Given the description of an element on the screen output the (x, y) to click on. 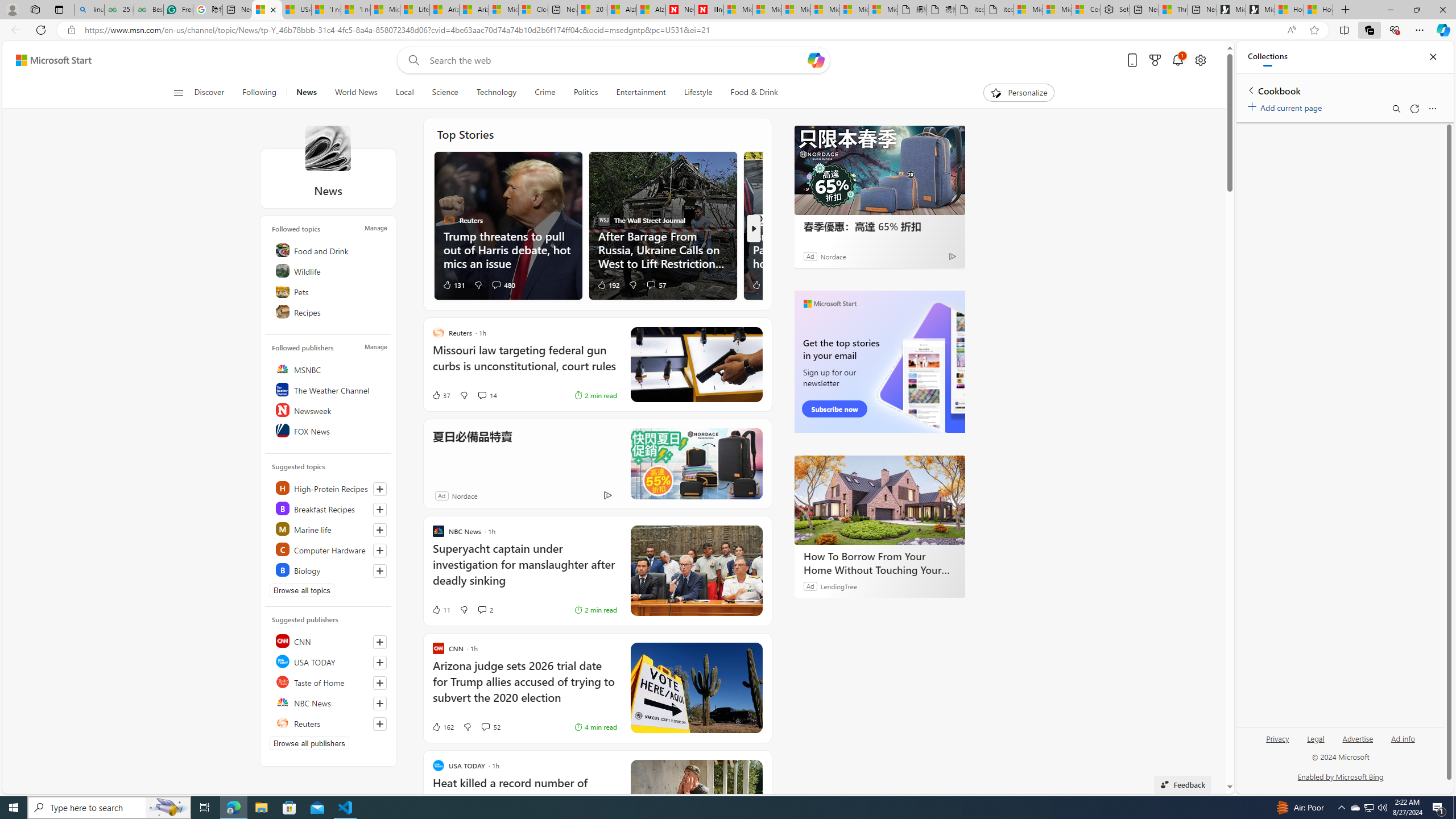
More options menu (1432, 108)
Back to list of collections (1250, 90)
View comments 2 Comment (485, 609)
NBC News (328, 702)
